Given the description of an element on the screen output the (x, y) to click on. 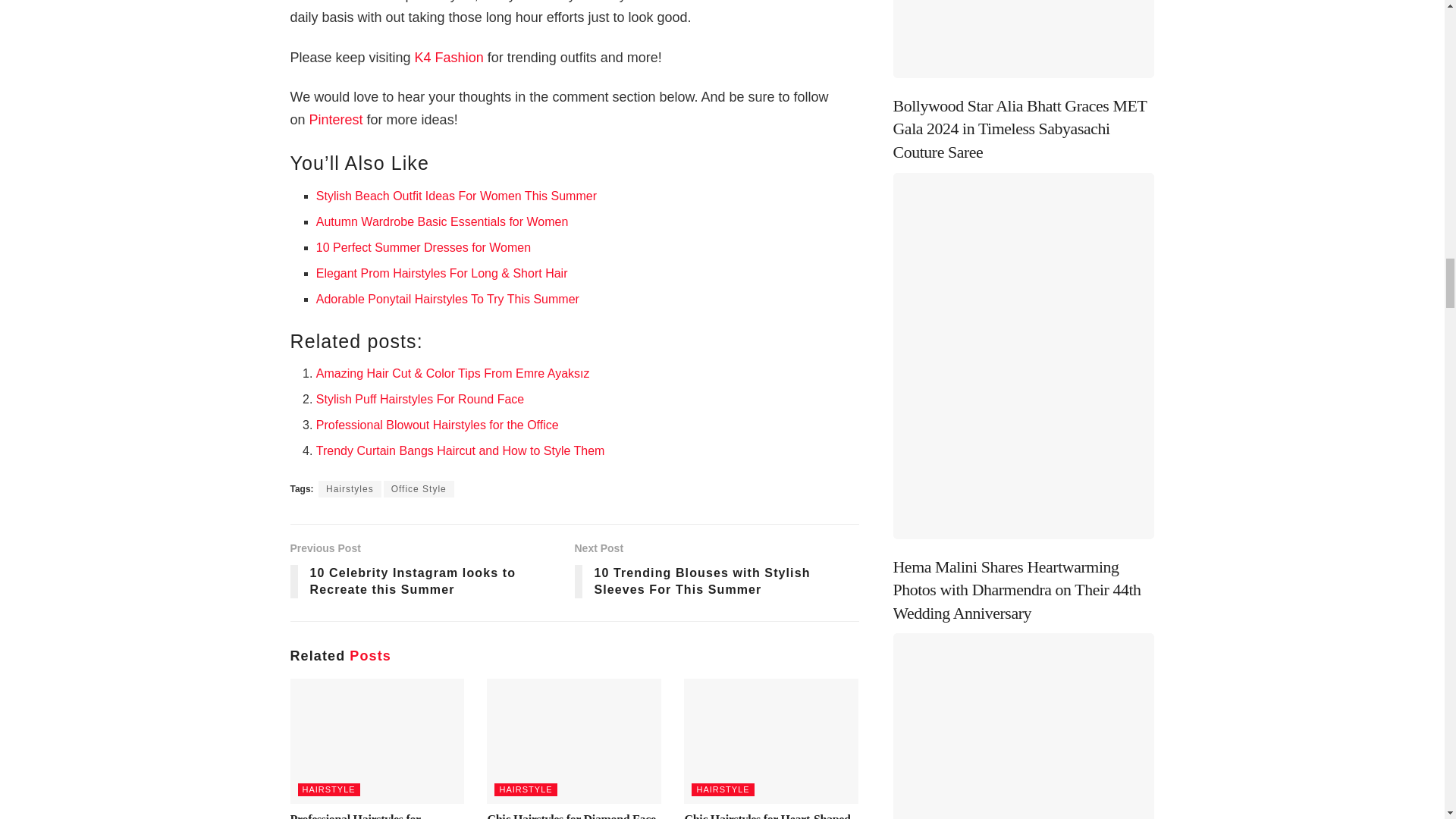
Professional Blowout Hairstyles for the Office (437, 424)
Autumn Wardrobe Basic Essentials for Women (442, 221)
Trendy Curtain Bangs Haircut and How to Style Them (460, 450)
Stylish Beach Outfit Ideas For Women This Summer (455, 195)
Stylish Puff Hairstyles For Round Face (419, 399)
10 Perfect Summer Dresses for Women (423, 246)
Adorable Ponytail Hairstyles To Try This Summer (447, 298)
